Given the description of an element on the screen output the (x, y) to click on. 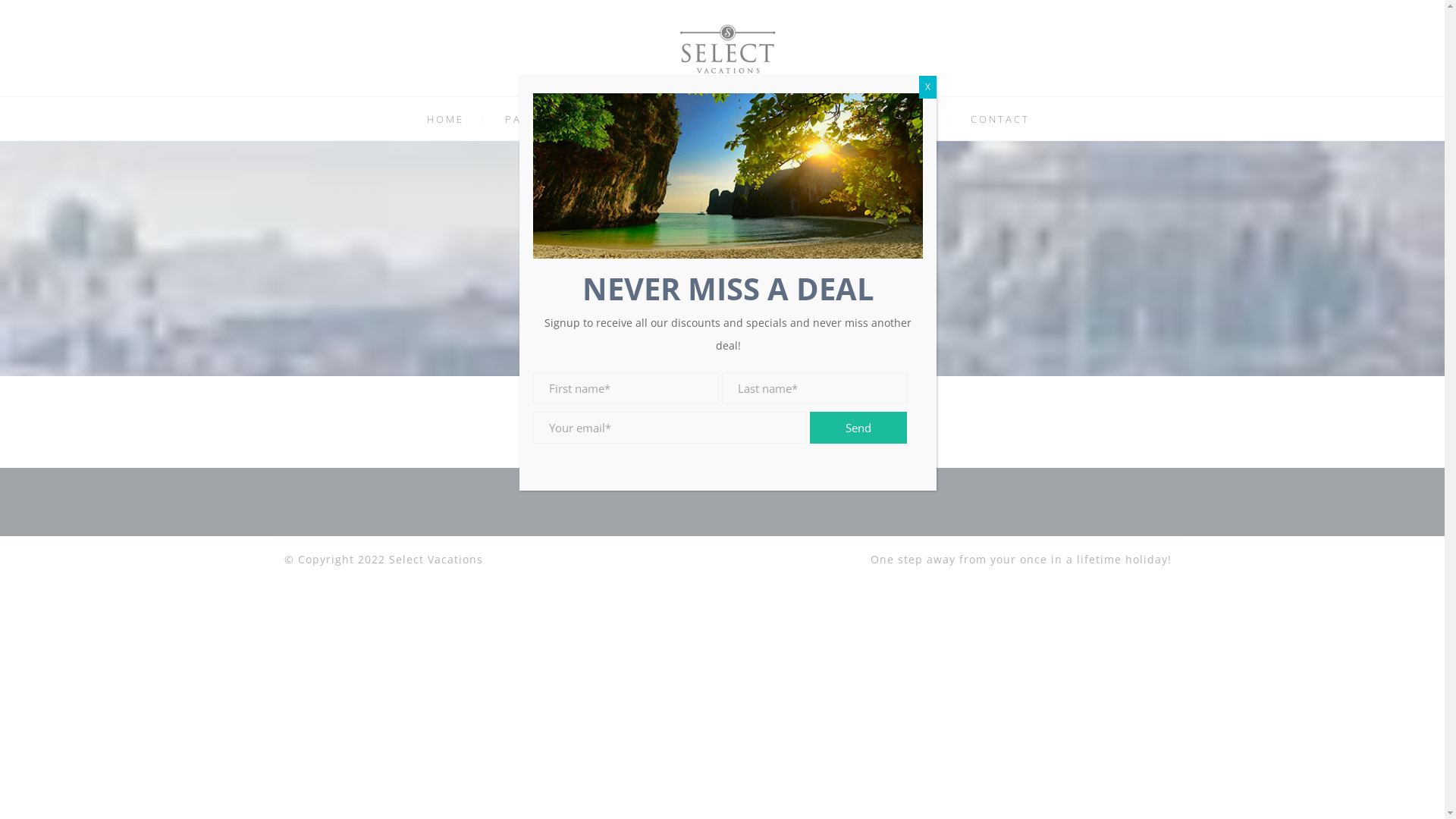
HOME Element type: text (444, 118)
X Element type: text (927, 86)
PACKAGES Element type: text (538, 118)
ABOUT US Element type: text (896, 118)
Send Element type: text (858, 427)
WEDDINGS Element type: text (785, 118)
DESTINATIONS Element type: text (661, 118)
CONTACT Element type: text (999, 118)
